Given the description of an element on the screen output the (x, y) to click on. 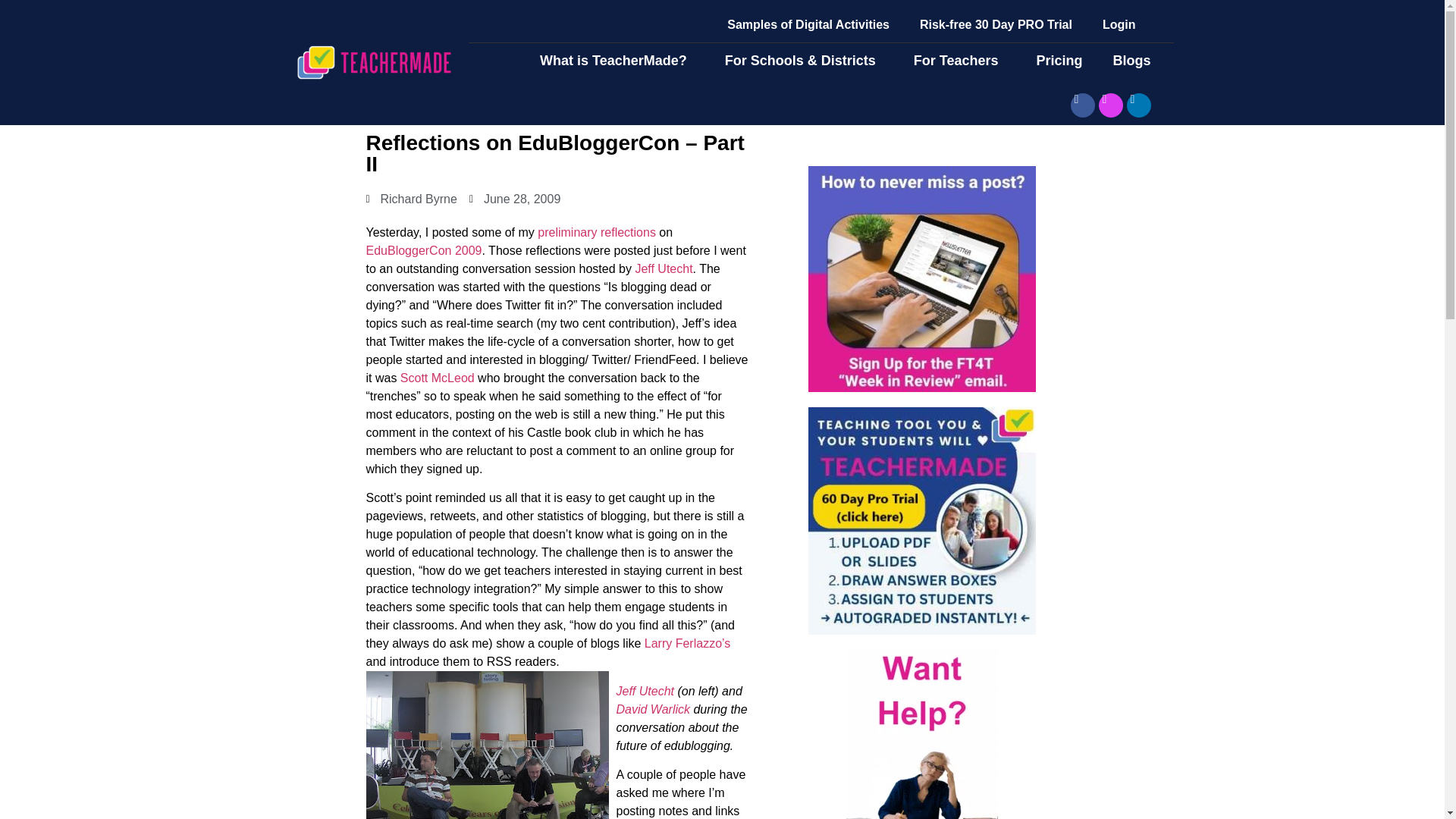
What is TeacherMade? (617, 60)
Samples of Digital Activities (807, 24)
Blogs (1135, 60)
Pricing (1058, 60)
Login (1119, 24)
For Teachers (960, 60)
Risk-free 30 Day PRO Trial (995, 24)
